Given the description of an element on the screen output the (x, y) to click on. 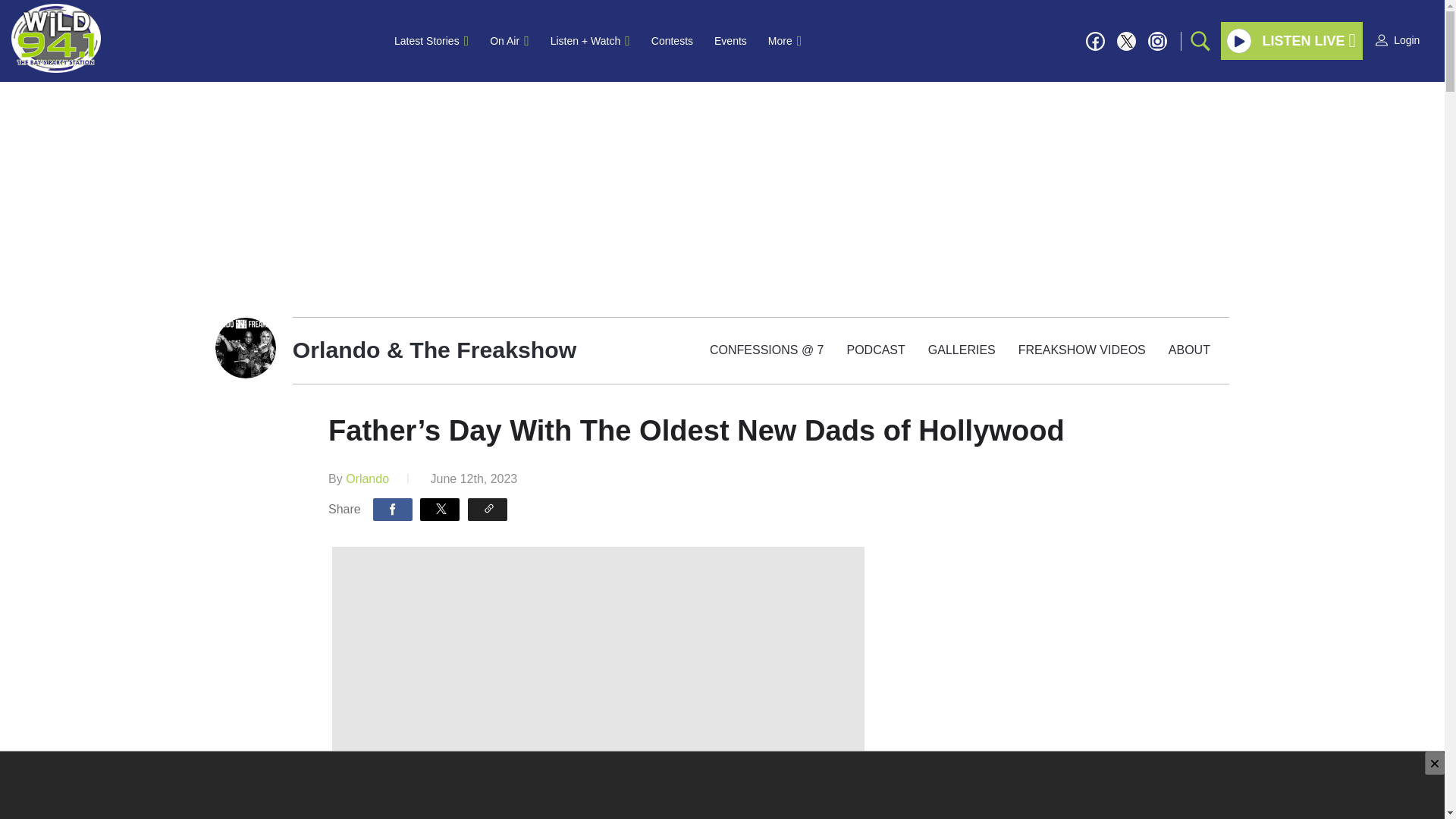
On Air (508, 40)
Latest Stories (431, 40)
Contests (671, 40)
Events (730, 40)
Orlando (367, 478)
More (784, 40)
